Given the description of an element on the screen output the (x, y) to click on. 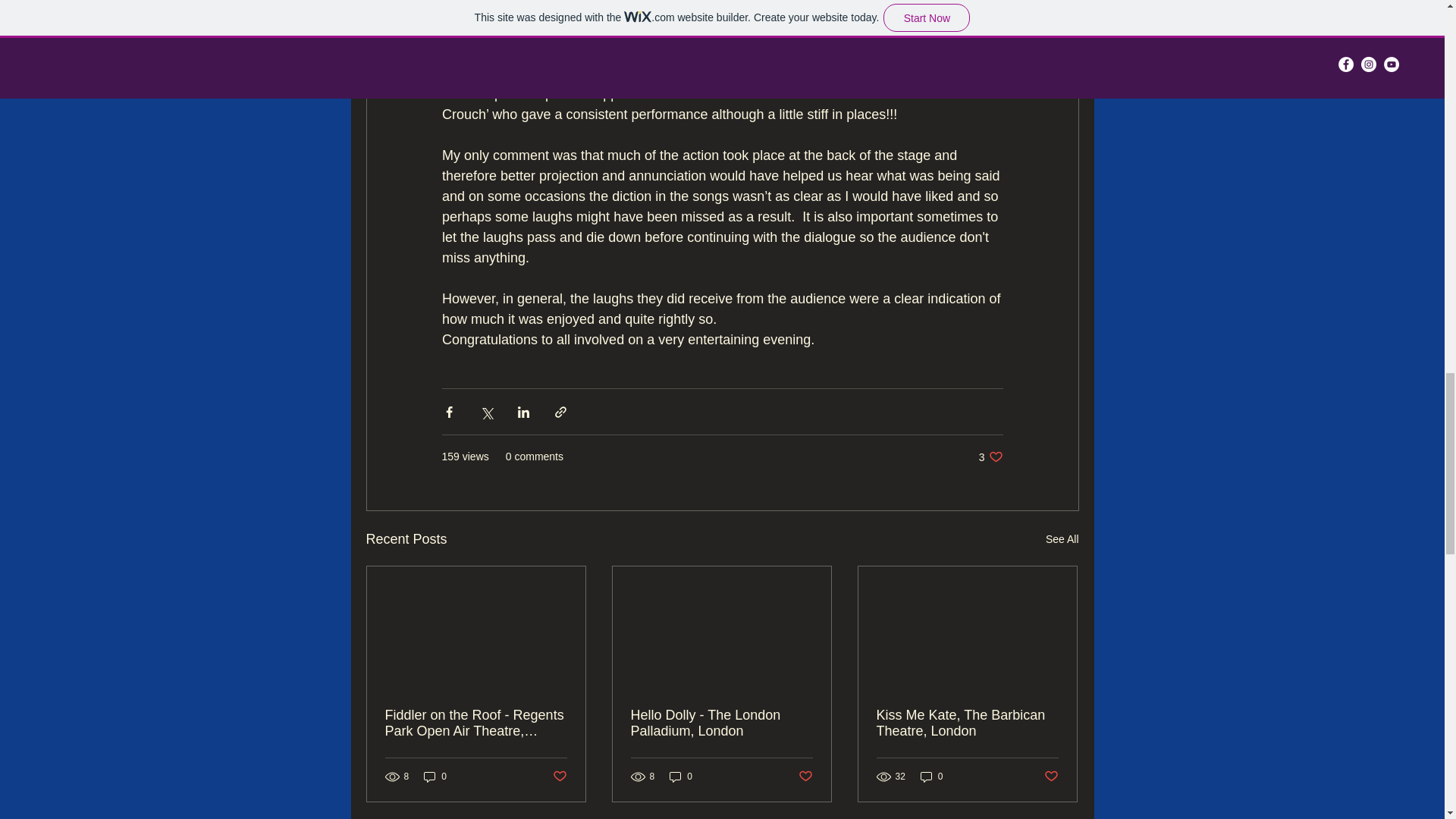
Kiss Me Kate, The Barbican Theatre, London (967, 723)
0 (990, 456)
Post not marked as liked (435, 776)
Post not marked as liked (804, 776)
Fiddler on the Roof - Regents Park Open Air Theatre, London (558, 776)
0 (476, 723)
Post not marked as liked (681, 776)
See All (1050, 776)
0 (1061, 539)
